Given the description of an element on the screen output the (x, y) to click on. 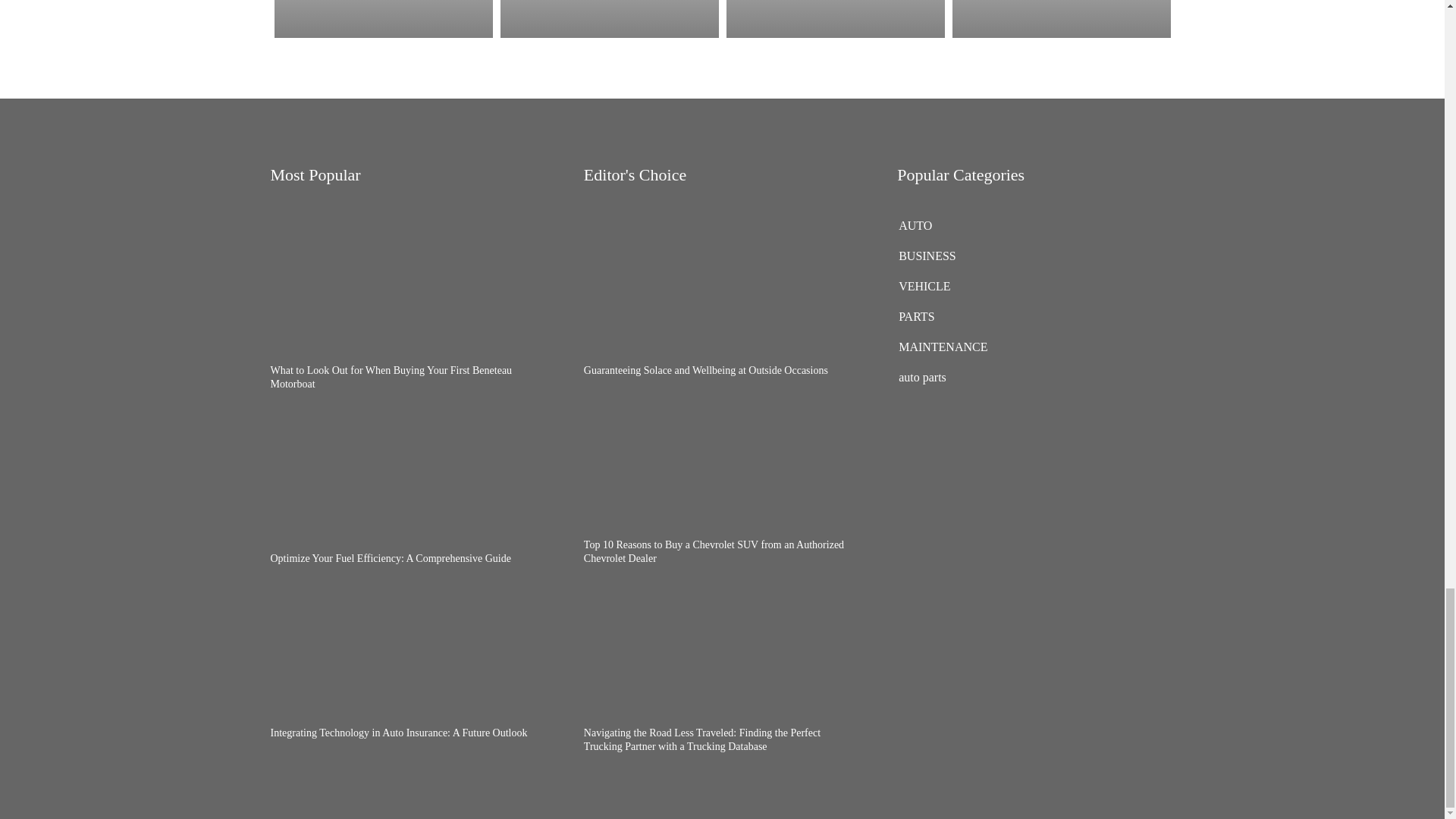
Guaranteeing Solace and Wellbeing at Outside Occasions (384, 18)
Protecting Your Home with Comprehensive Policies (1061, 18)
